Given the description of an element on the screen output the (x, y) to click on. 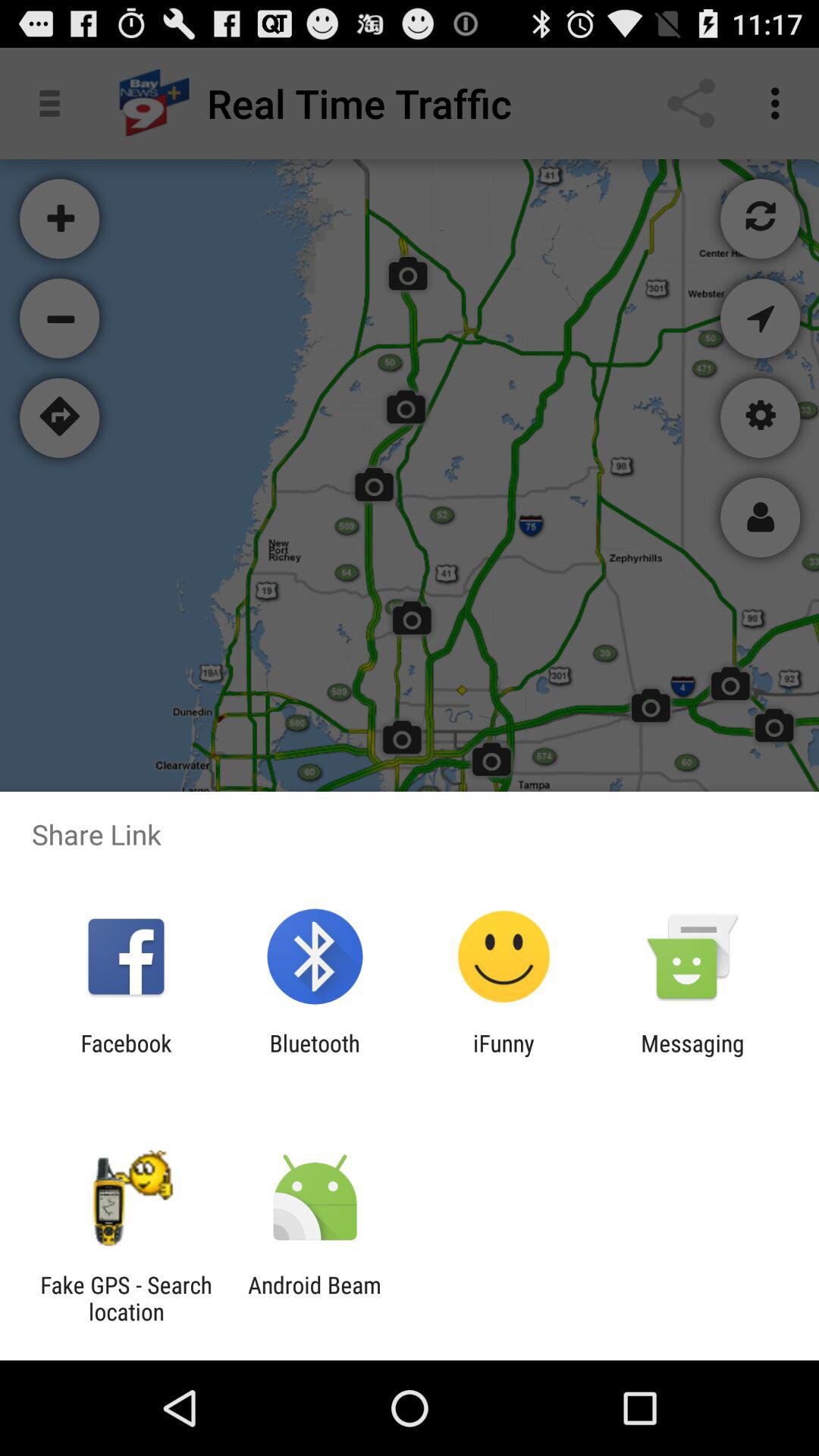
press item to the left of messaging item (503, 1056)
